Given the description of an element on the screen output the (x, y) to click on. 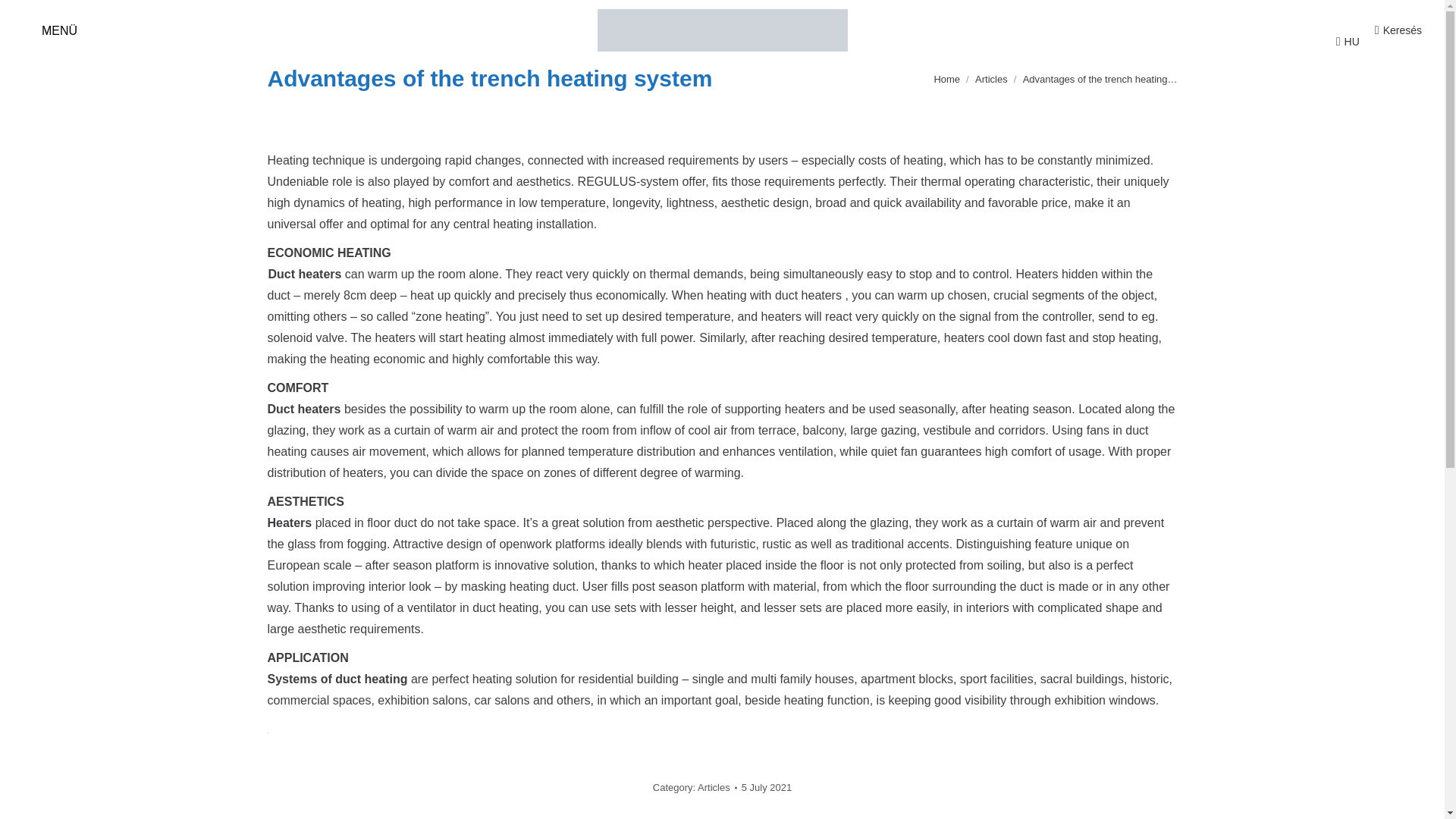
Go! (24, 16)
5 July 2021 (766, 787)
Home (946, 78)
Articles (991, 78)
Home (946, 78)
Articles (991, 78)
14:59 (766, 787)
Articles (713, 787)
